Given the description of an element on the screen output the (x, y) to click on. 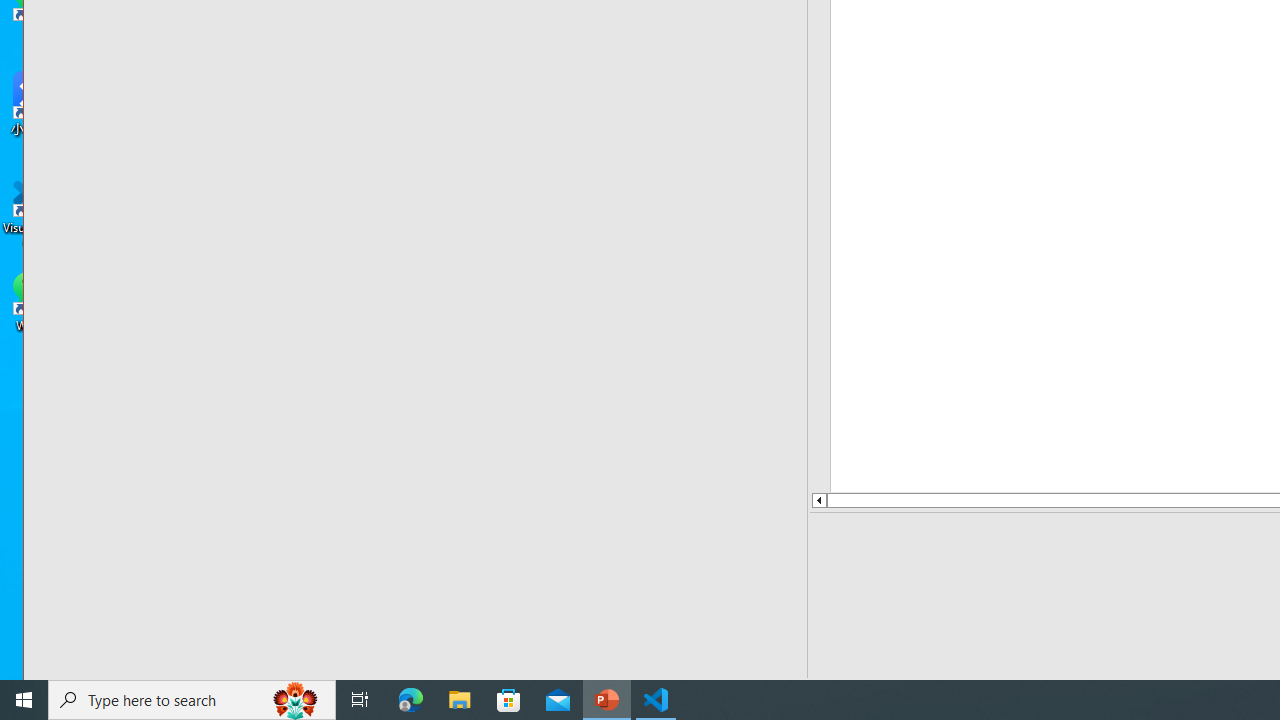
Line up (818, 500)
